Given the description of an element on the screen output the (x, y) to click on. 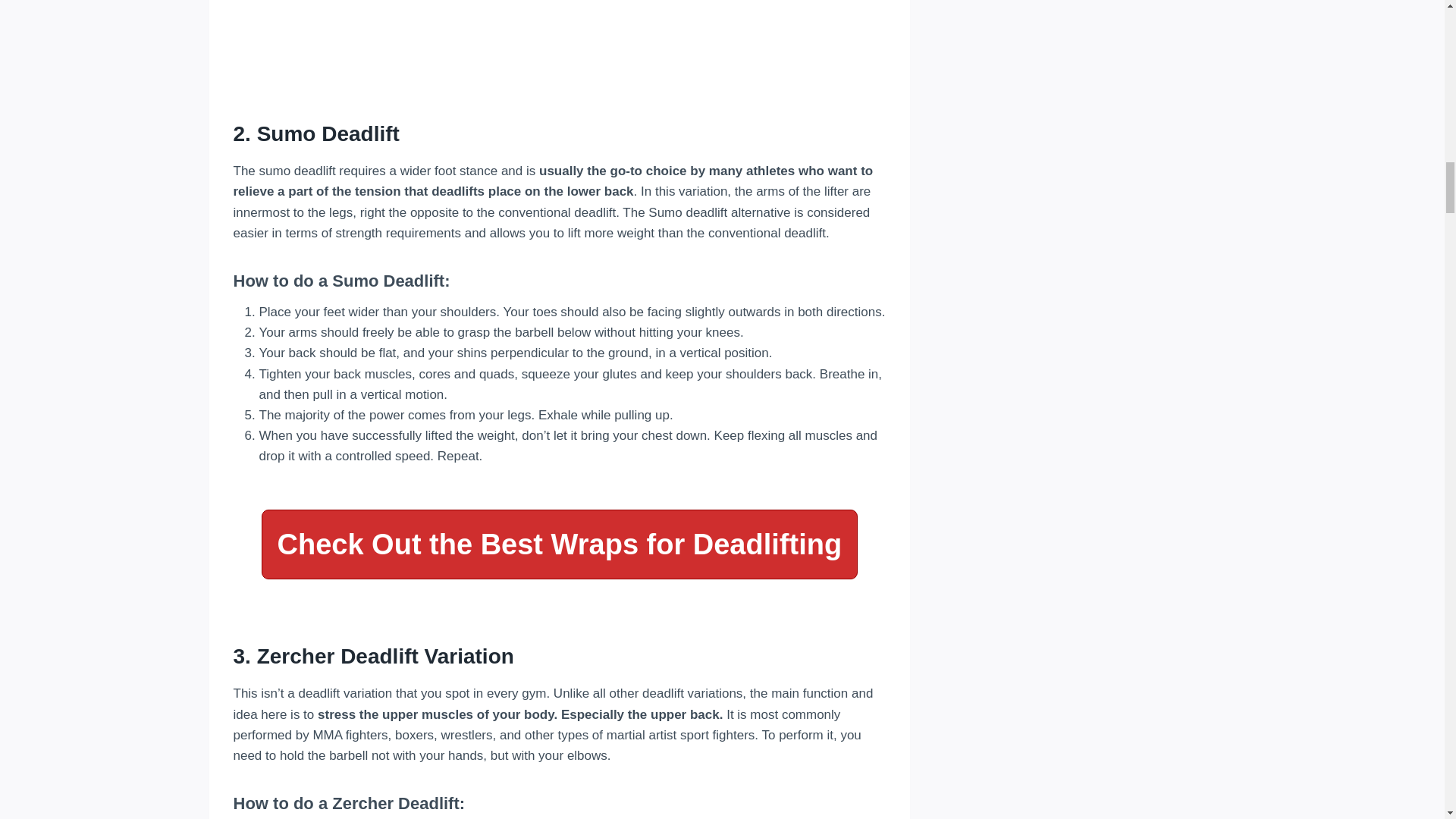
Check Out the Best Wraps for Deadlifting (558, 544)
